Given the description of an element on the screen output the (x, y) to click on. 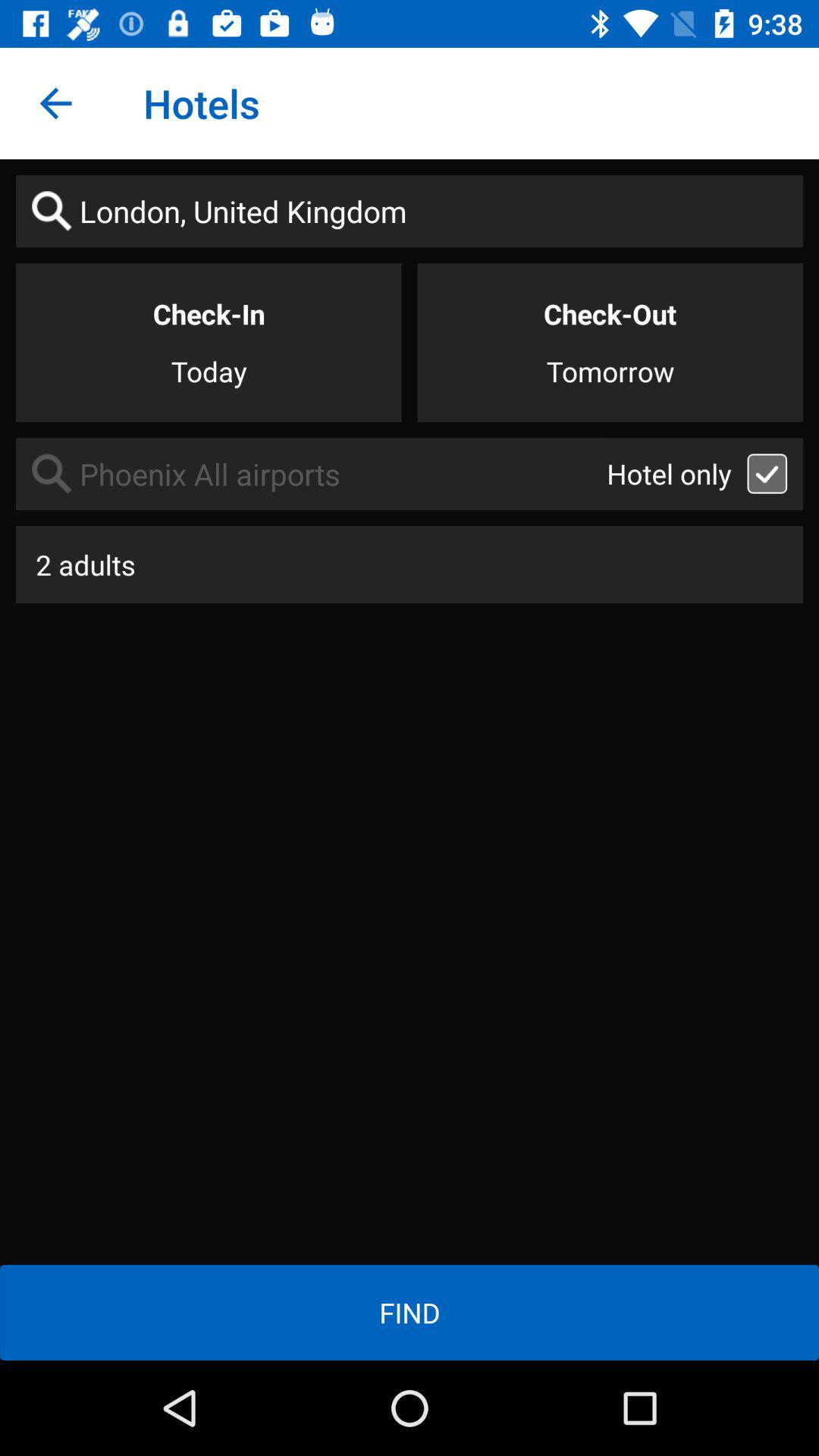
launch item next to hotels icon (55, 103)
